Given the description of an element on the screen output the (x, y) to click on. 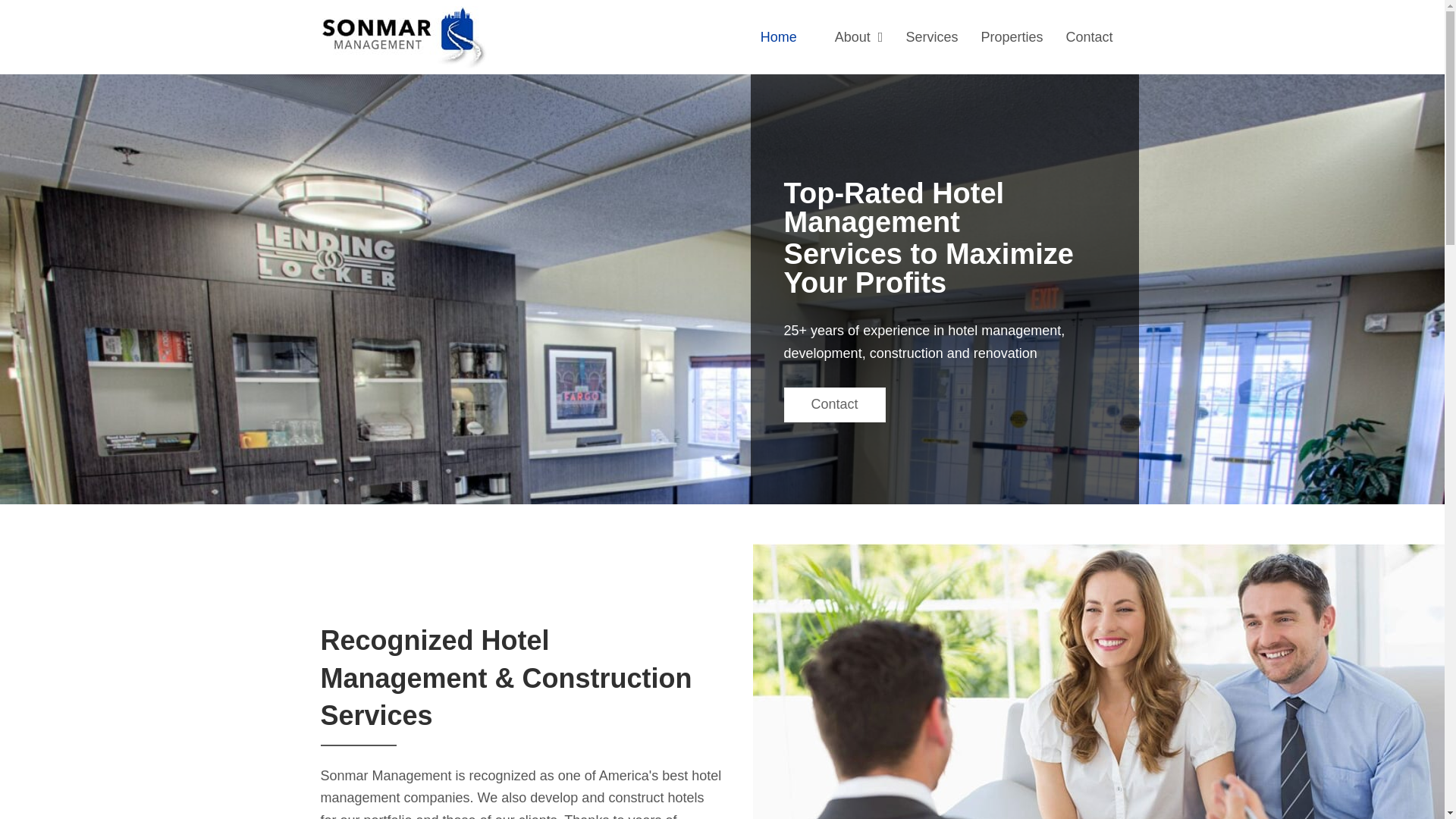
Sonmar Management (404, 36)
Contact (1088, 36)
Properties (1010, 36)
Home (778, 36)
Contact (834, 404)
About (859, 36)
Services (931, 36)
